Given the description of an element on the screen output the (x, y) to click on. 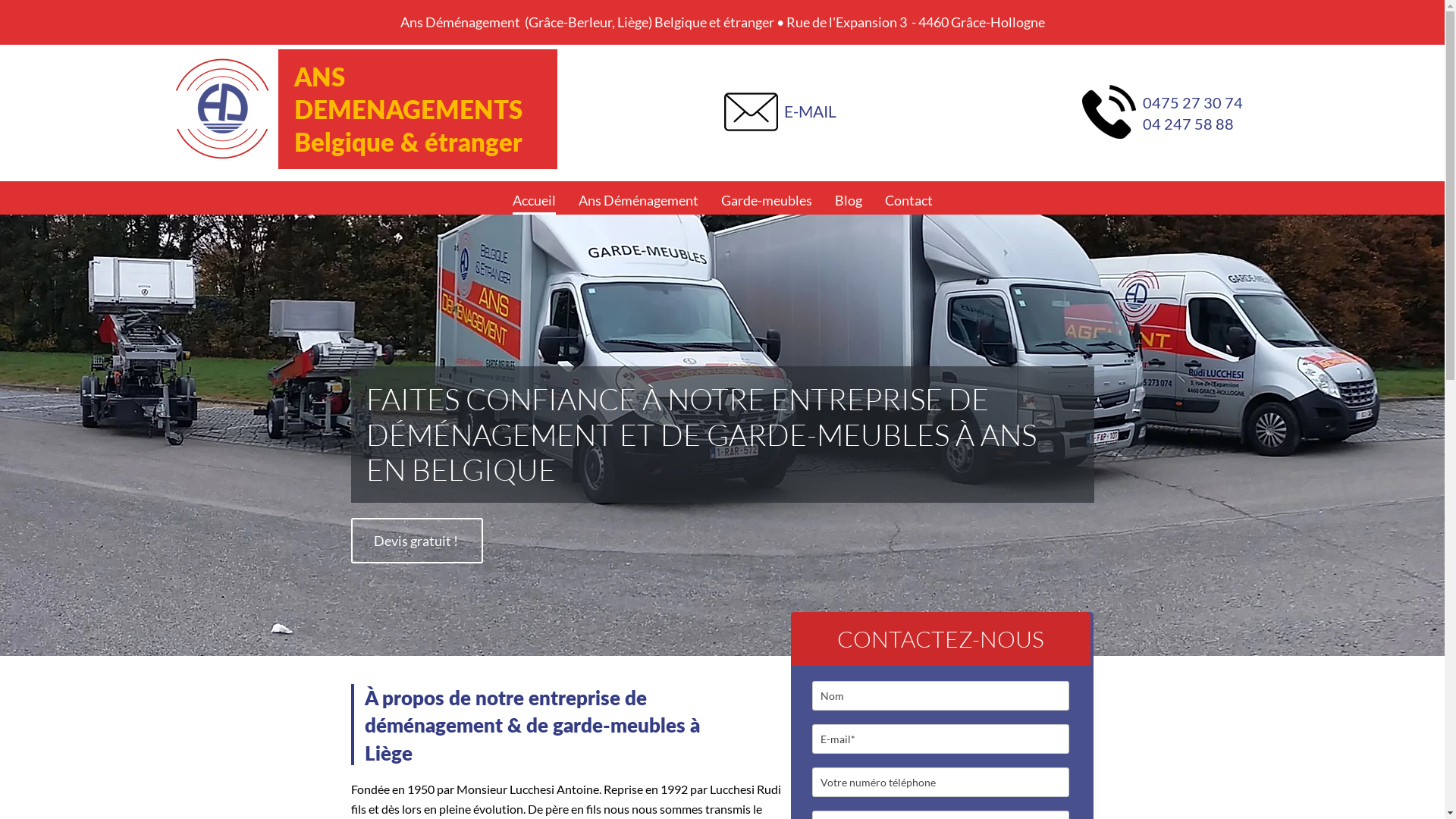
Accueil Element type: text (533, 201)
04 247 58 88 Element type: text (1187, 123)
Blog Element type: text (847, 201)
0475 27 30 74 Element type: text (1192, 102)
Garde-meubles Element type: text (765, 201)
Devis gratuit ! Element type: text (416, 540)
Contact Element type: text (907, 201)
E-MAIL Element type: text (810, 110)
